Given the description of an element on the screen output the (x, y) to click on. 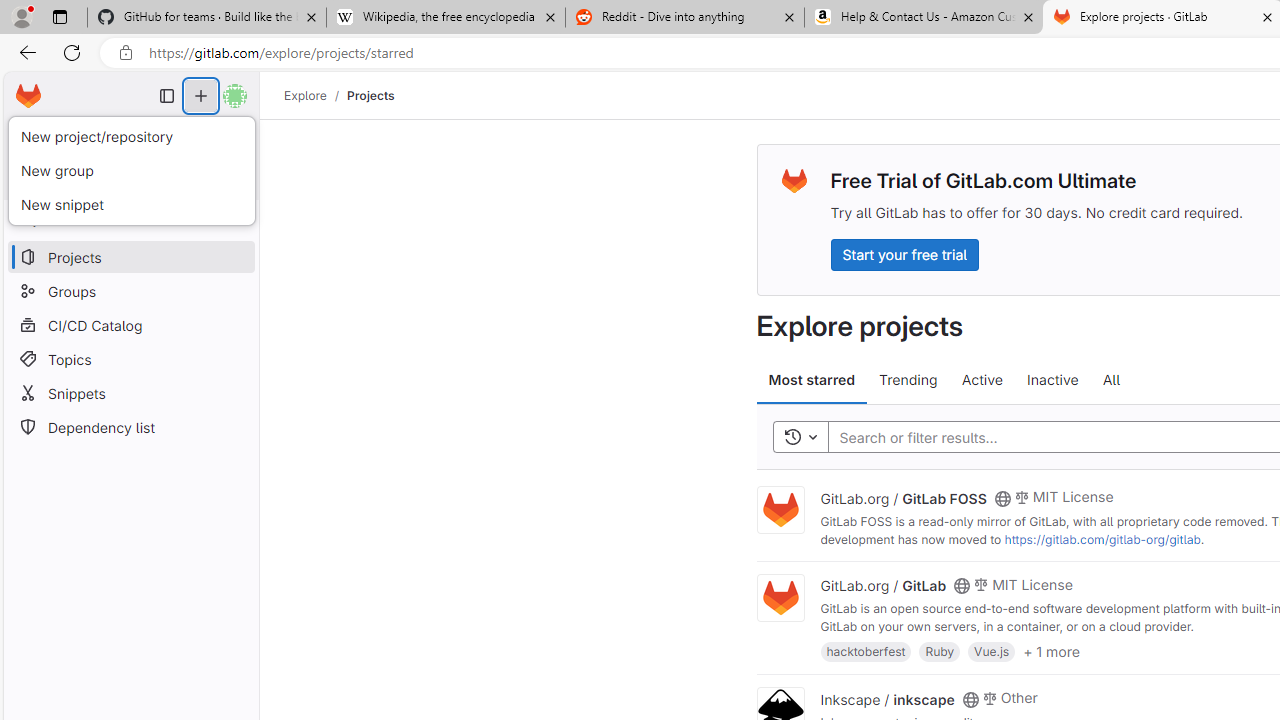
New snippet (131, 204)
Class: s14 gl-mr-2 (989, 696)
Snippets (130, 393)
+ 1 more (1051, 650)
GitLab.org / GitLab (883, 585)
Inkscape / inkscape (887, 698)
Dependency list (130, 427)
New project/repository (131, 137)
hacktoberfest (866, 650)
Toggle history (800, 437)
